Given the description of an element on the screen output the (x, y) to click on. 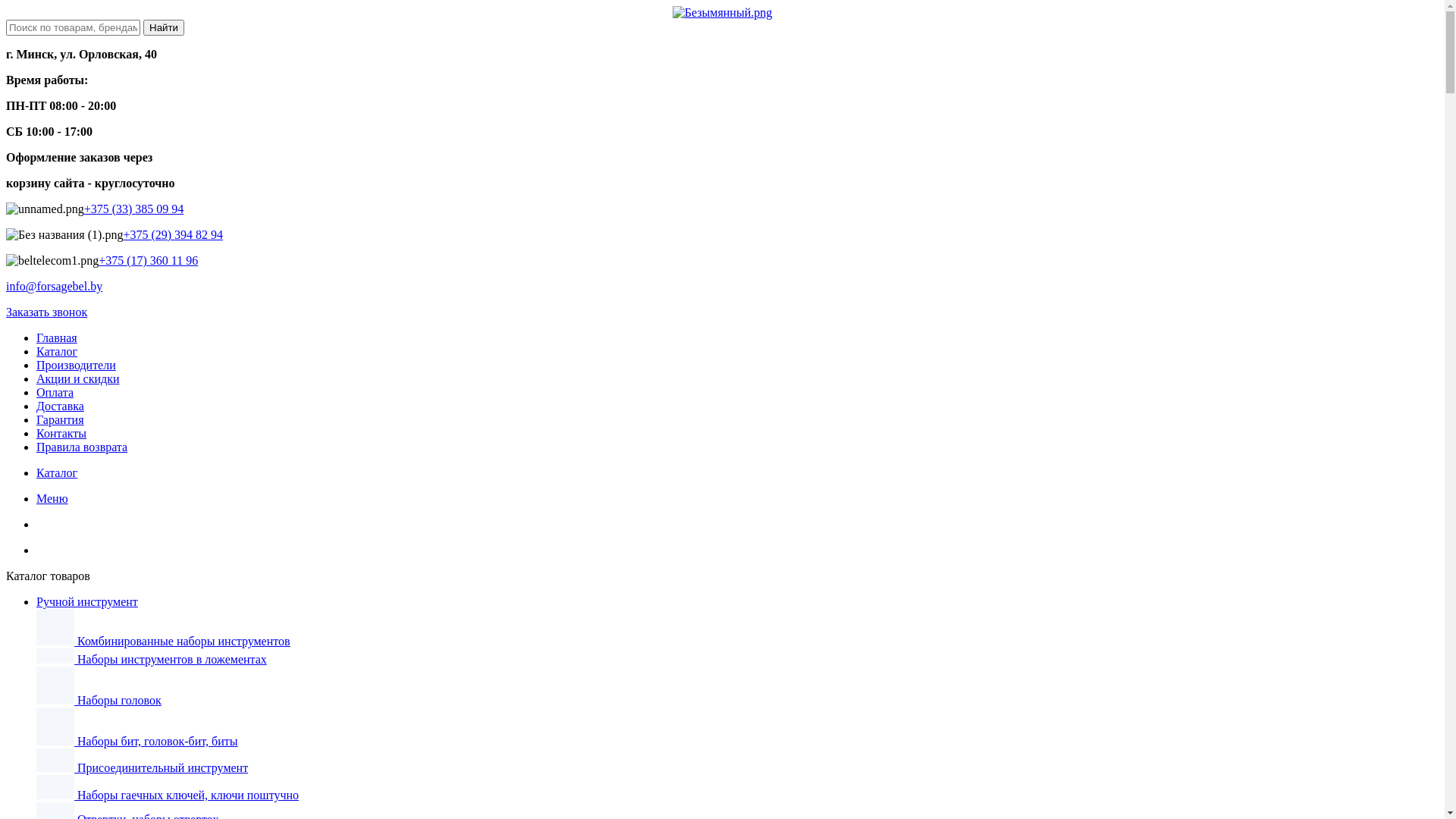
beltelecom1.png Element type: hover (52, 260)
+375 (17) 360 11 96 Element type: text (147, 260)
info@forsagebel.by Element type: text (54, 285)
+375 (29) 394 82 94 Element type: text (172, 234)
unnamed.png Element type: hover (45, 209)
+375 (33) 385 09 94 Element type: text (134, 208)
